Given the description of an element on the screen output the (x, y) to click on. 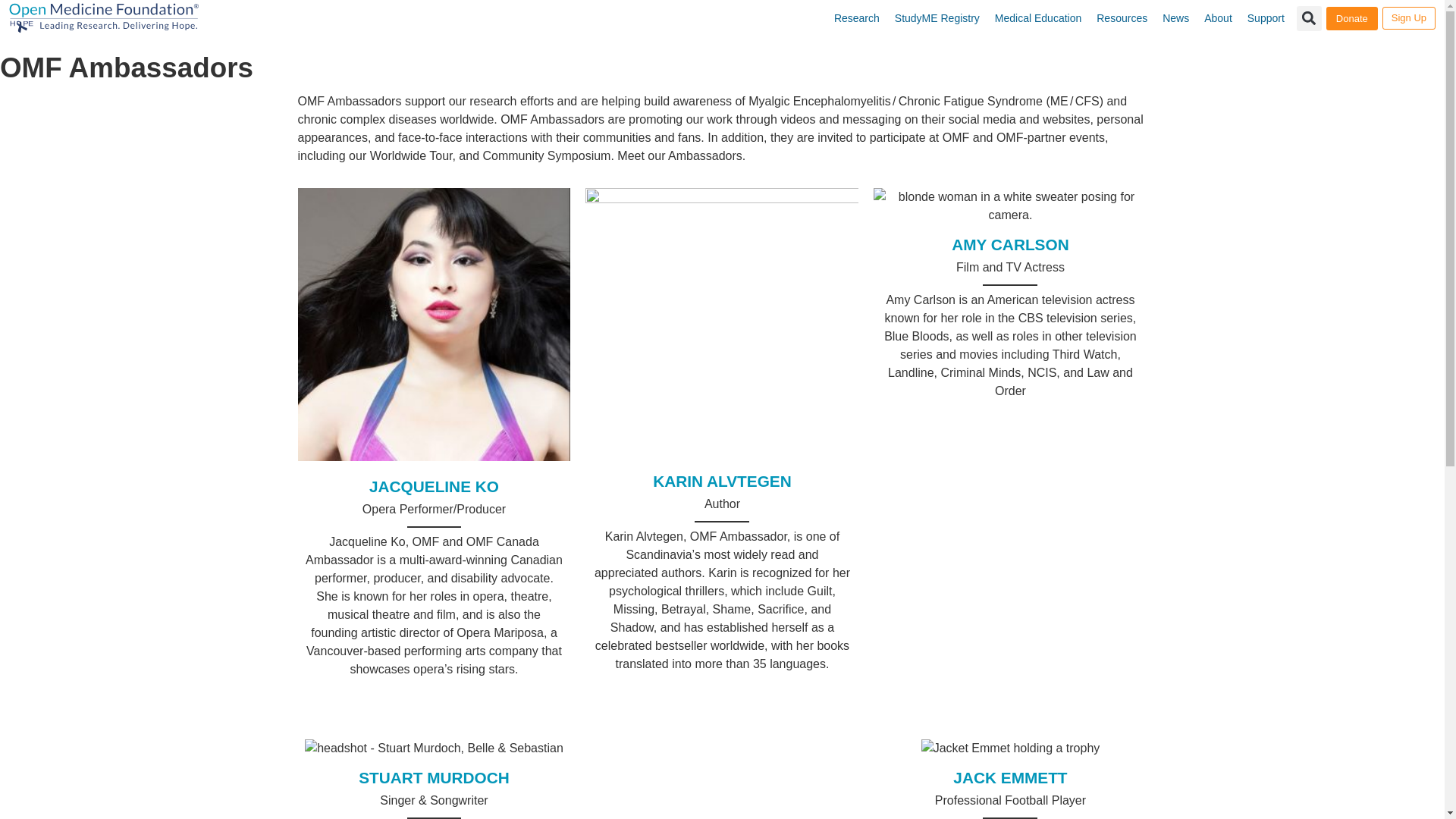
StudyME Registry (936, 18)
Research (856, 18)
Medical Education (1038, 18)
About (1218, 18)
Resources (1121, 18)
News (1175, 18)
